Given the description of an element on the screen output the (x, y) to click on. 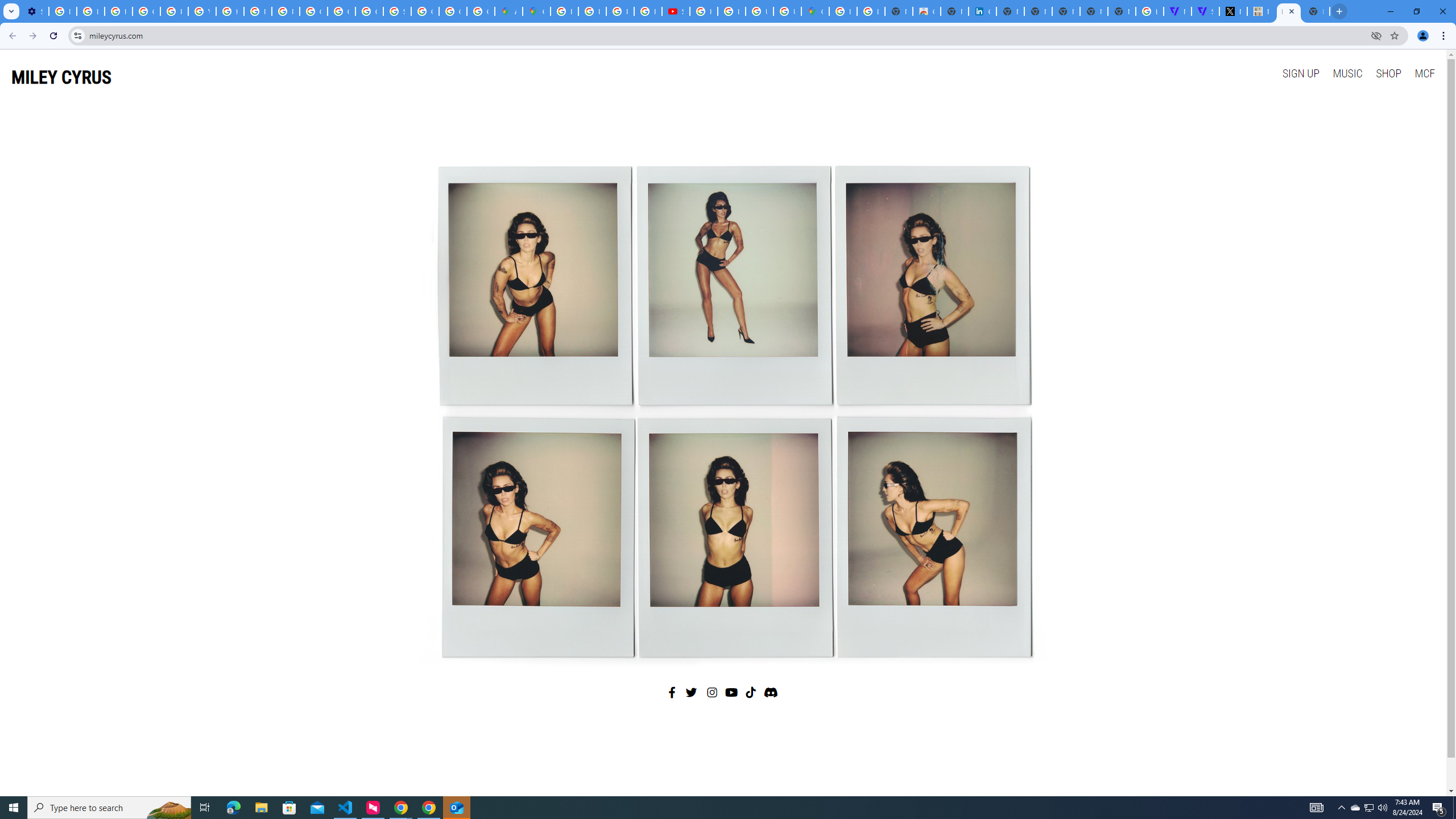
Blogger Policies and Guidelines - Transparency Center (564, 11)
New Tab (1121, 11)
YouTube (202, 11)
